Given the description of an element on the screen output the (x, y) to click on. 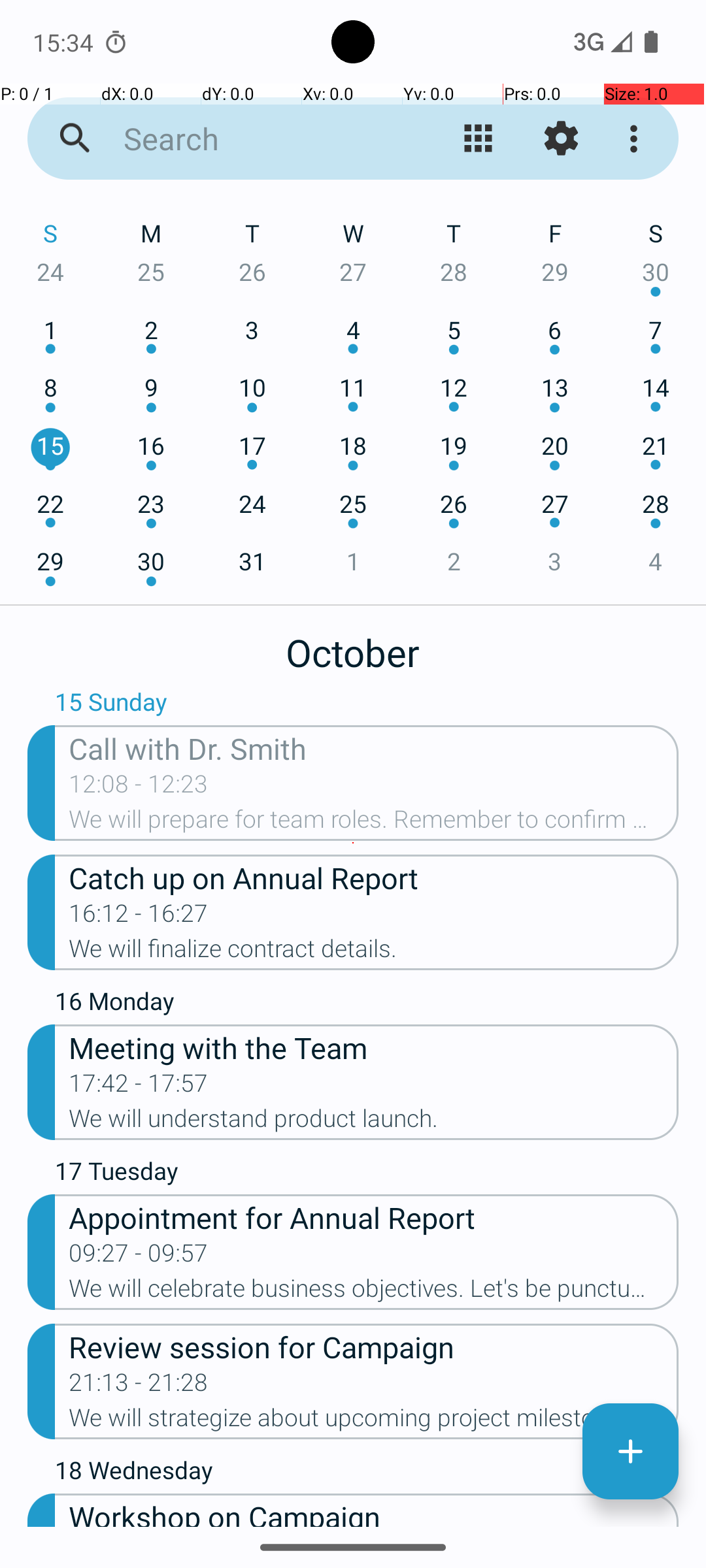
12:08 - 12:23 Element type: android.widget.TextView (137, 787)
We will prepare for team roles. Remember to confirm attendance. Element type: android.widget.TextView (373, 822)
16:12 - 16:27 Element type: android.widget.TextView (137, 916)
We will finalize contract details. Element type: android.widget.TextView (373, 952)
17:42 - 17:57 Element type: android.widget.TextView (137, 1086)
We will understand product launch. Element type: android.widget.TextView (373, 1122)
09:27 - 09:57 Element type: android.widget.TextView (137, 1256)
We will celebrate business objectives. Let's be punctual. Element type: android.widget.TextView (373, 1291)
21:13 - 21:28 Element type: android.widget.TextView (137, 1386)
We will strategize about upcoming project milestones. Snacks will be provided. Element type: android.widget.TextView (373, 1421)
